Given the description of an element on the screen output the (x, y) to click on. 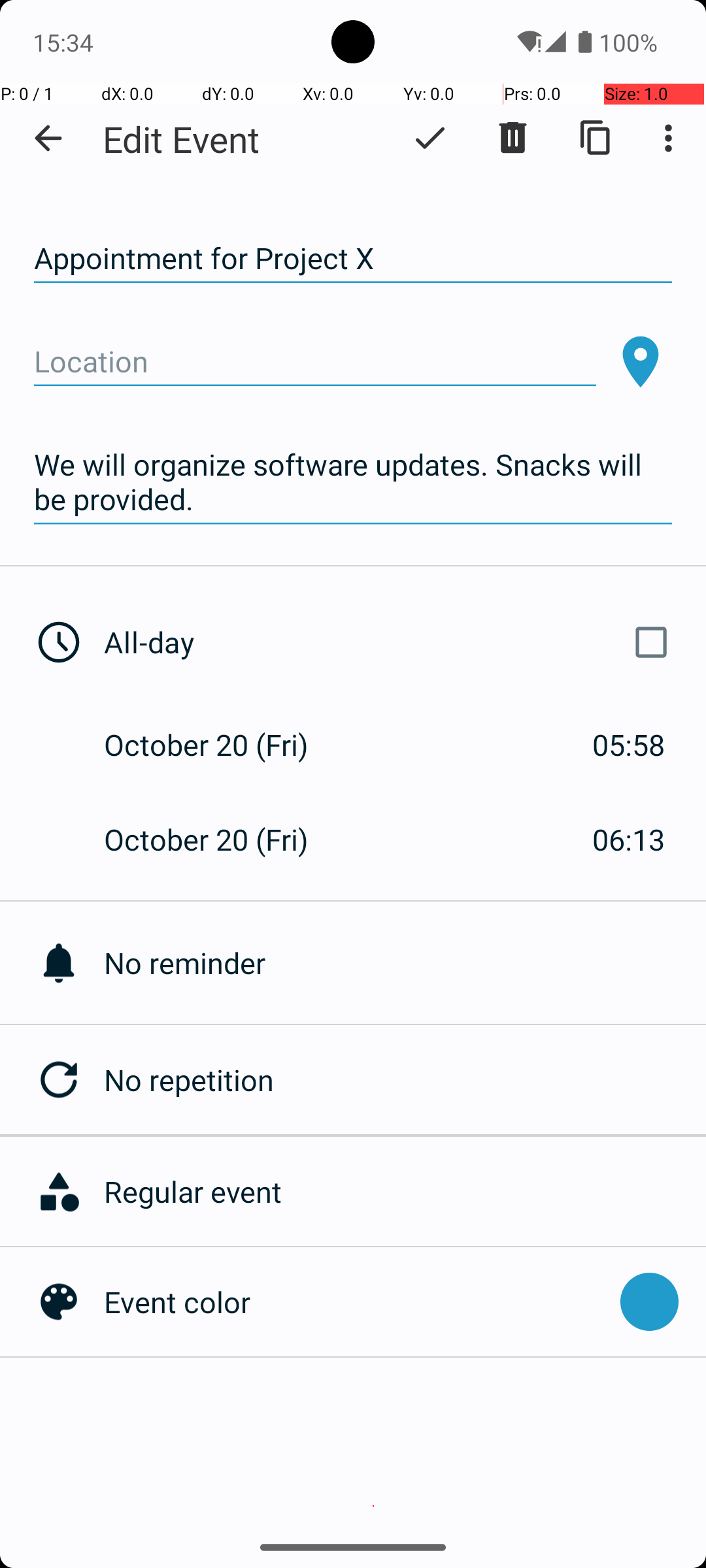
We will organize software updates. Snacks will be provided. Element type: android.widget.EditText (352, 482)
October 20 (Fri) Element type: android.widget.TextView (219, 744)
05:58 Element type: android.widget.TextView (628, 744)
06:13 Element type: android.widget.TextView (628, 838)
